Given the description of an element on the screen output the (x, y) to click on. 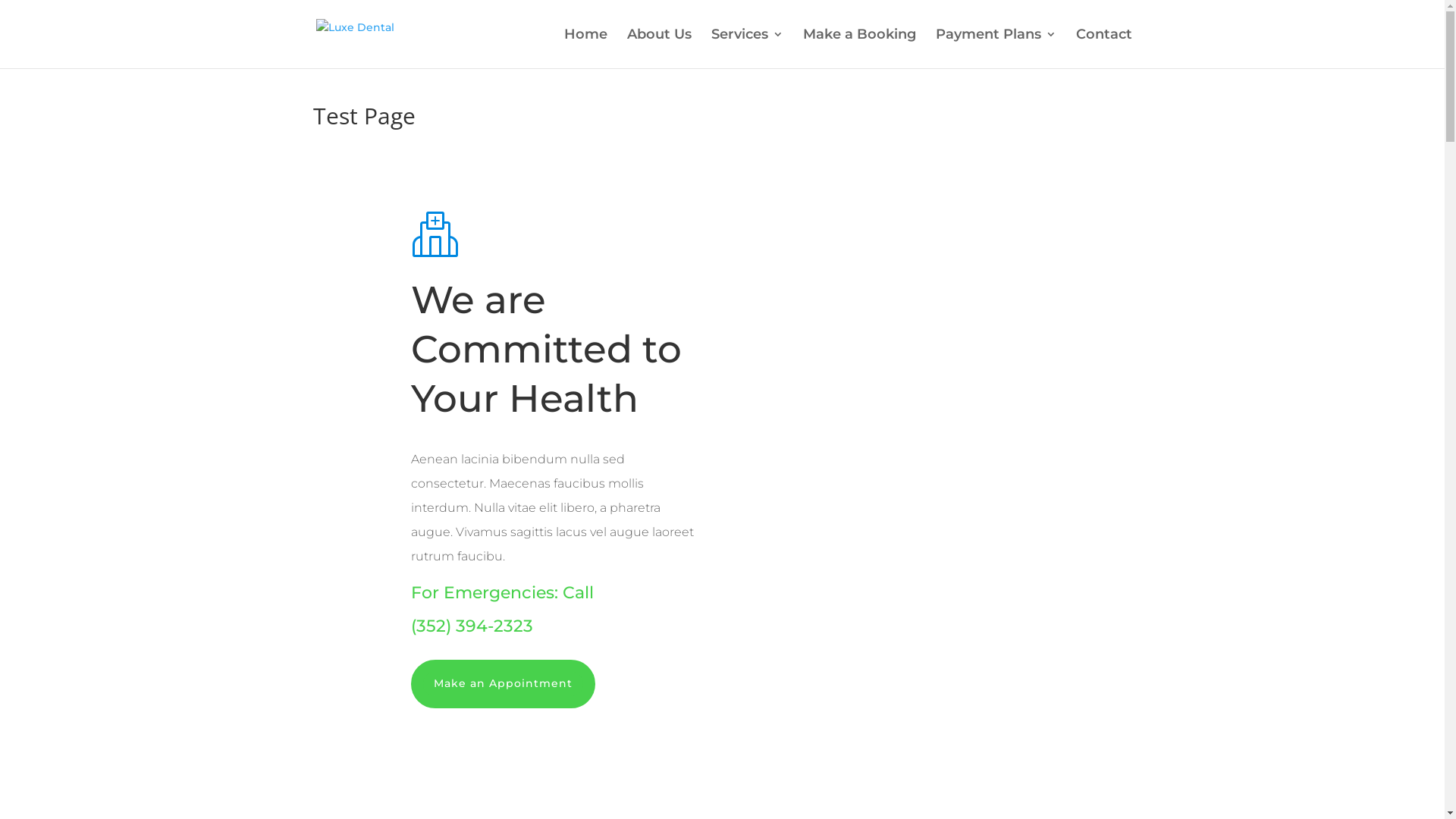
Services Element type: text (747, 48)
Make an Appointment Element type: text (503, 683)
Payment Plans Element type: text (995, 48)
Make a Booking Element type: text (858, 48)
Home Element type: text (585, 48)
Contact Element type: text (1103, 48)
About Us Element type: text (658, 48)
